Given the description of an element on the screen output the (x, y) to click on. 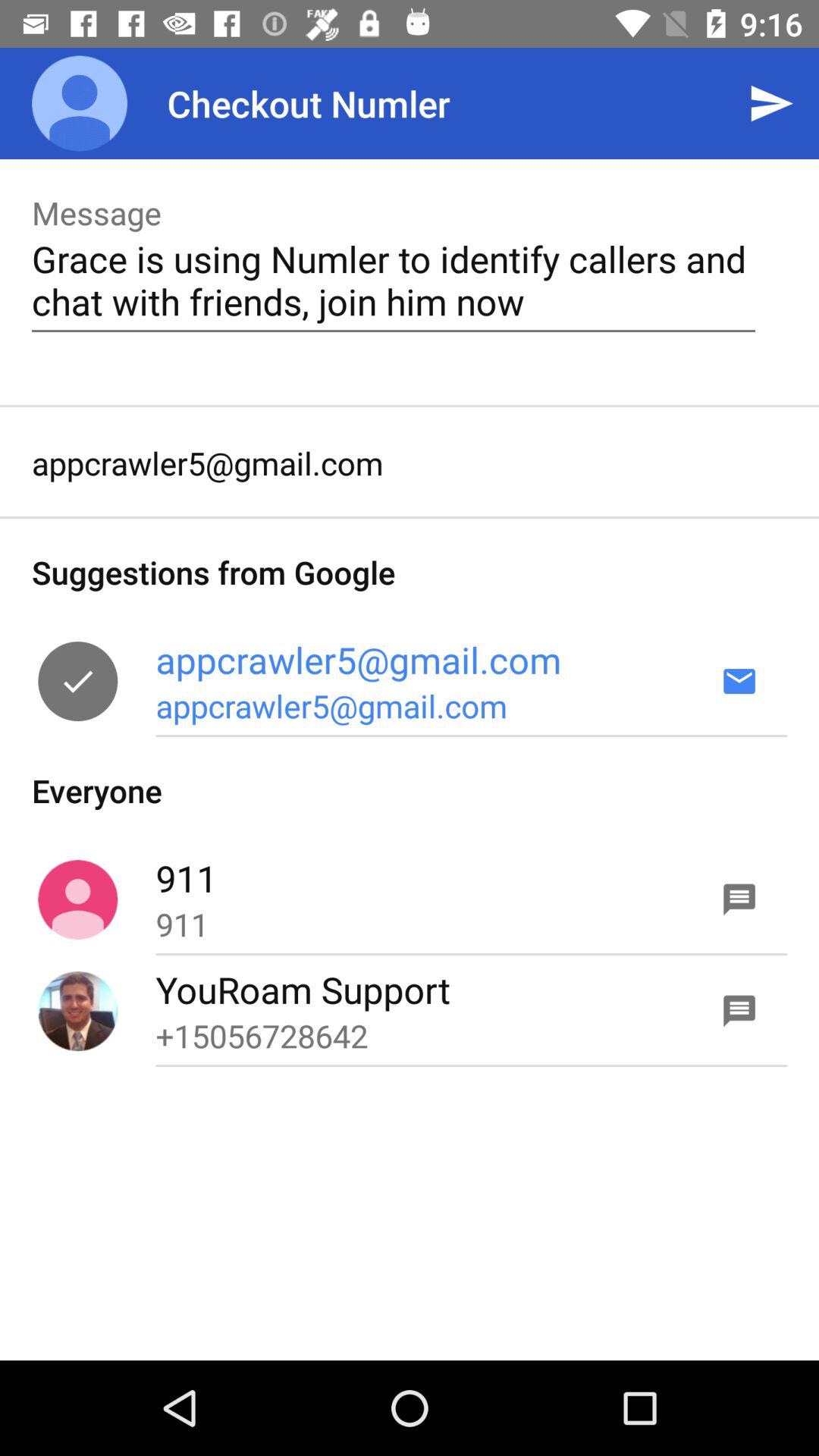
launch icon below message (393, 279)
